Given the description of an element on the screen output the (x, y) to click on. 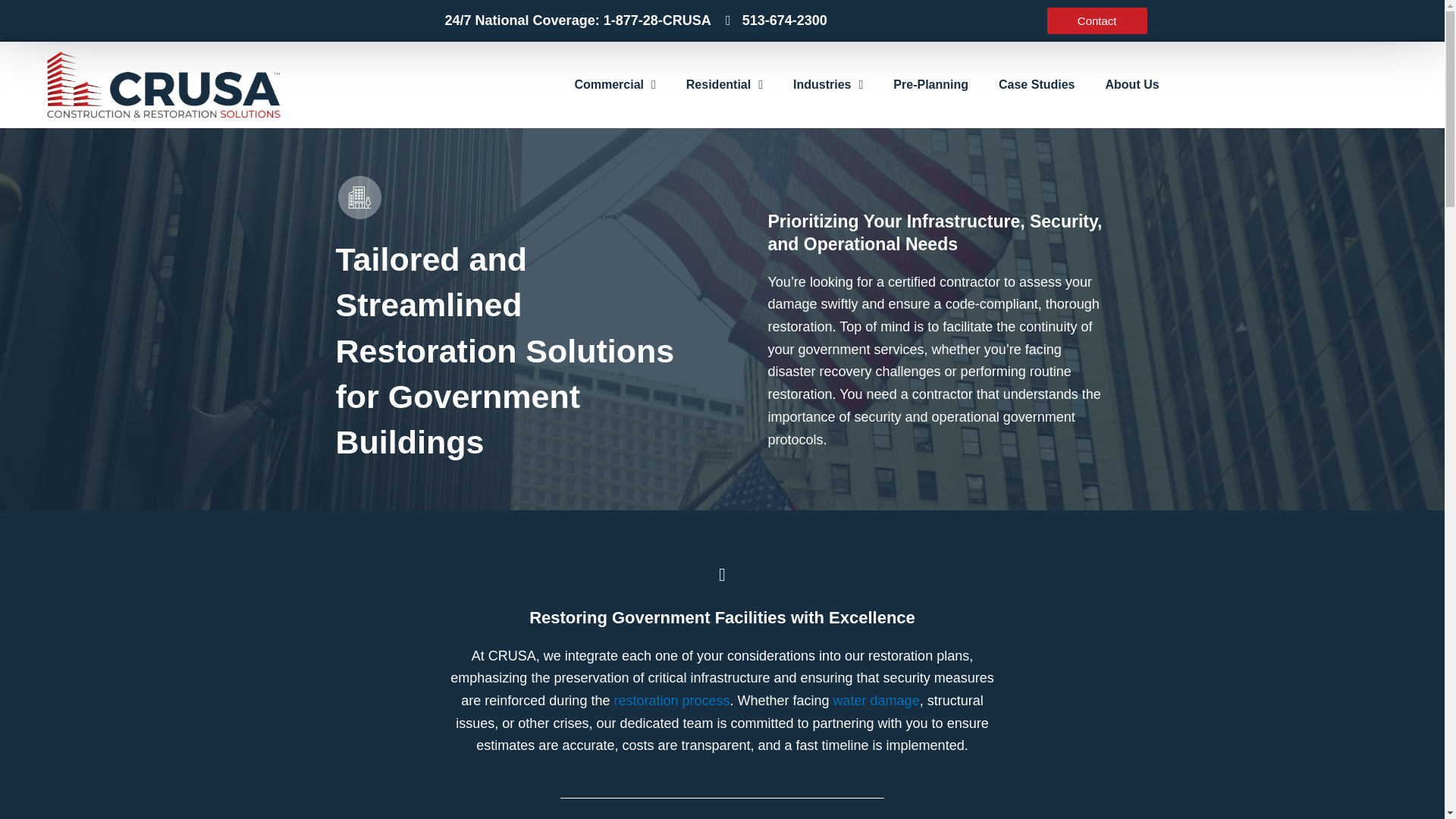
Industries (827, 84)
1-877-28-CRUSA       513-674-2300 (715, 20)
Commercial (614, 84)
Pre-Planning (930, 84)
Case Studies (1036, 84)
Multi-family.png (358, 197)
Residential (724, 84)
Contact (1096, 20)
About Us (1132, 84)
